Given the description of an element on the screen output the (x, y) to click on. 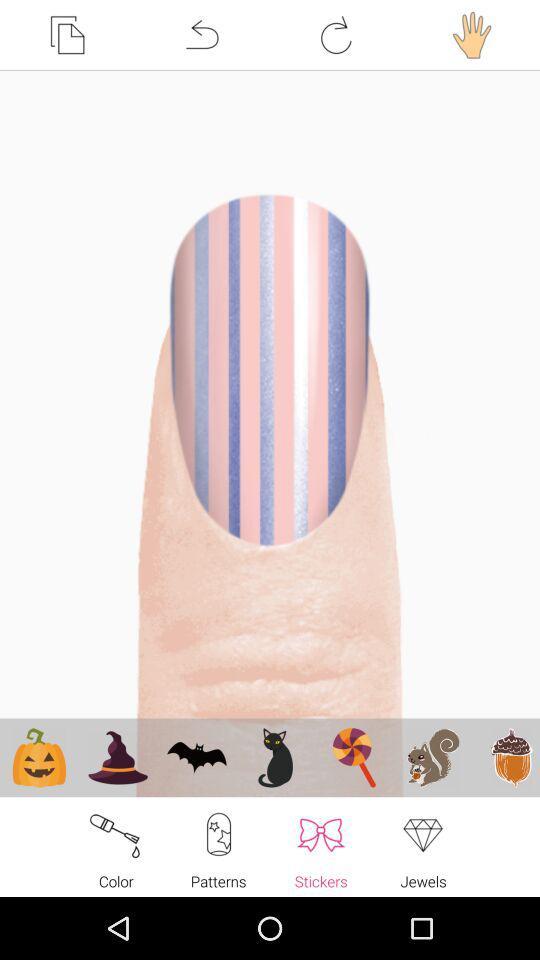
select the last image which is last from  bottom left corner (507, 757)
click on the hat emoji (118, 757)
select the 2nd clip art from right (432, 757)
go to fifth option in second last row (354, 757)
